Given the description of an element on the screen output the (x, y) to click on. 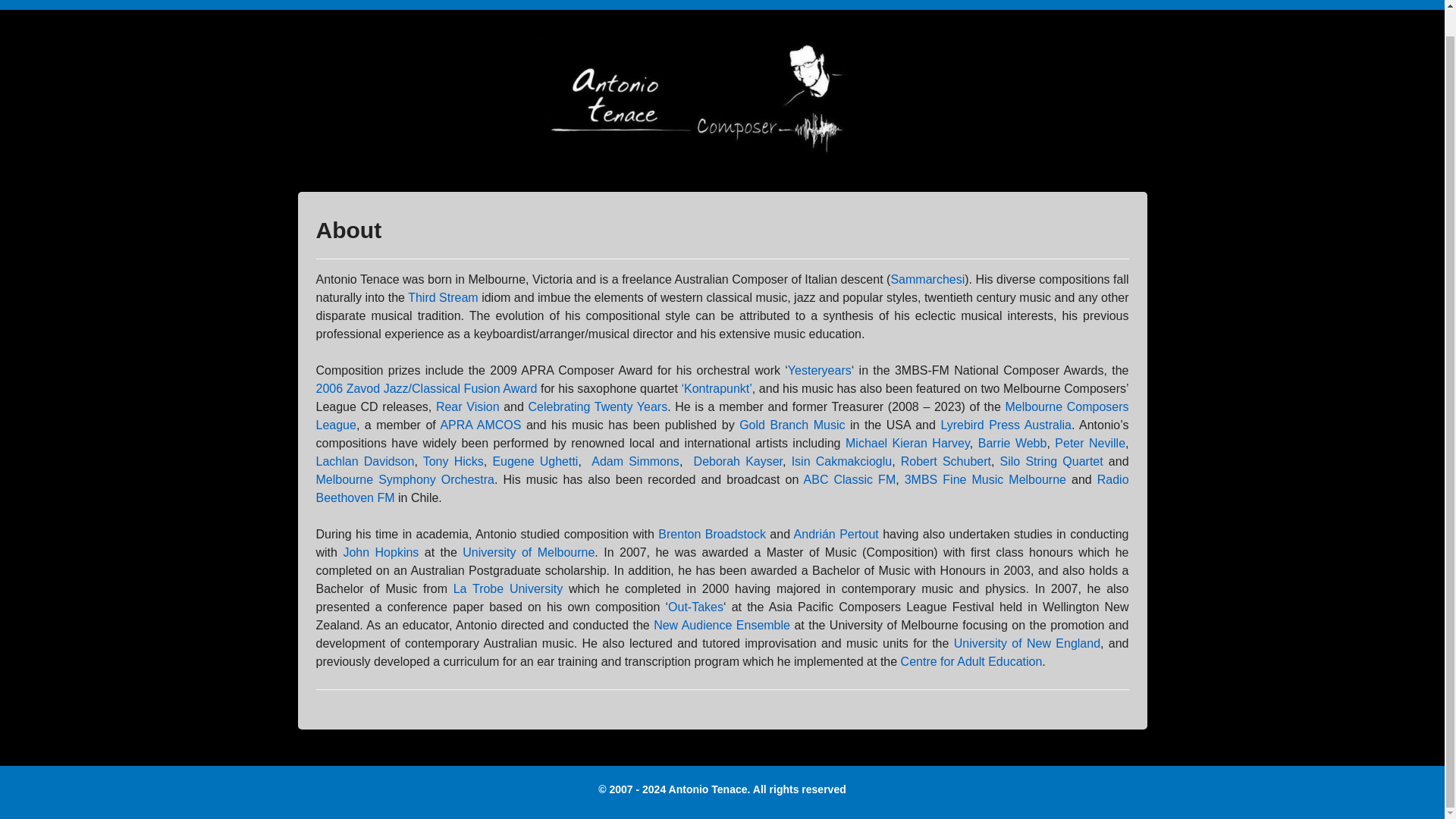
Celebrating Twenty Years (598, 406)
Melbourne Symphony Orchestra (405, 479)
APRA AMCOS (480, 424)
Out-Takes (695, 606)
Peter Neville (1089, 442)
La Trobe University (507, 588)
Yesteryears (819, 369)
University of Melbourne (528, 552)
Home (320, 4)
Music (455, 4)
